Given the description of an element on the screen output the (x, y) to click on. 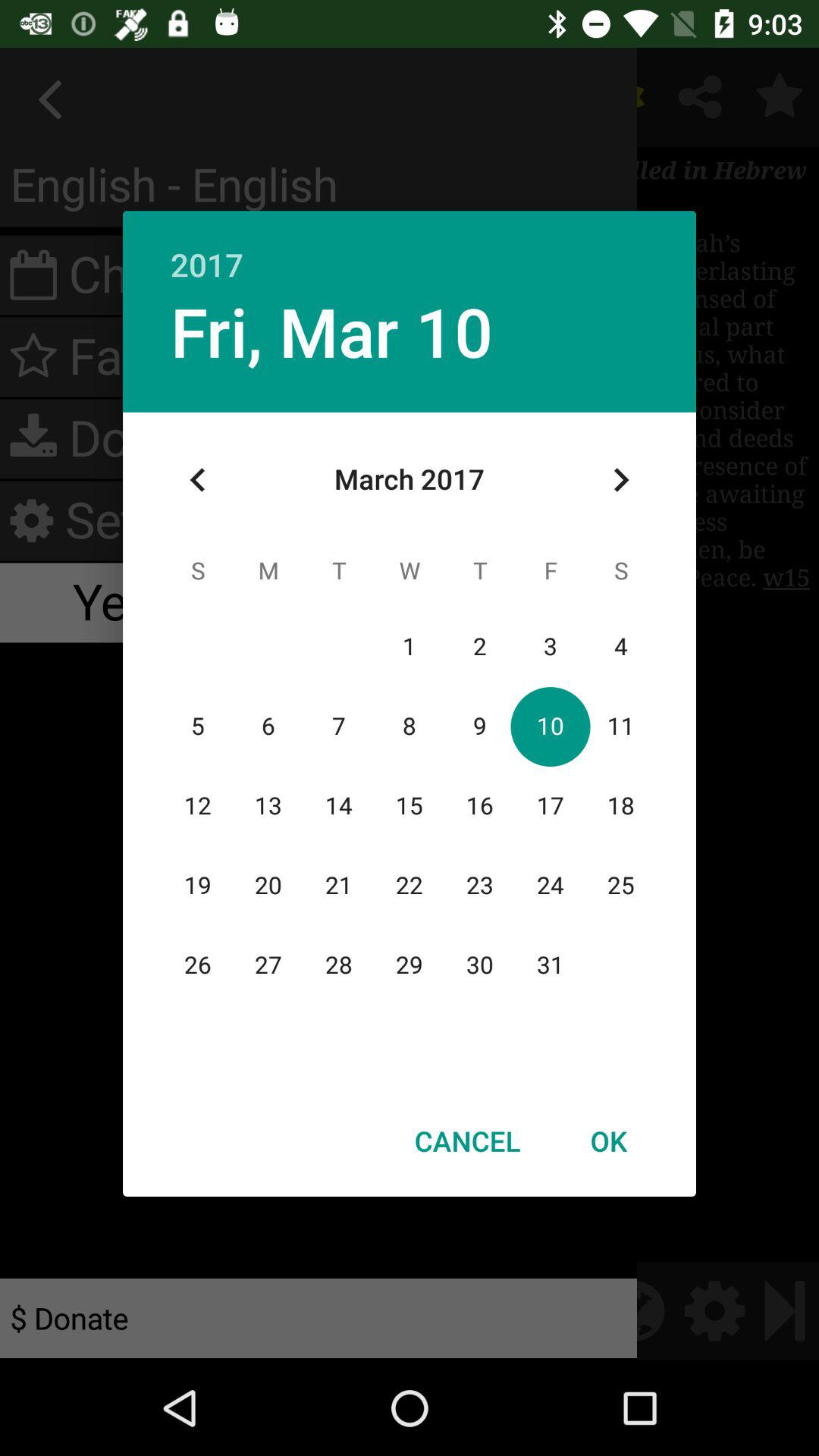
select the button above ok icon (620, 479)
